Given the description of an element on the screen output the (x, y) to click on. 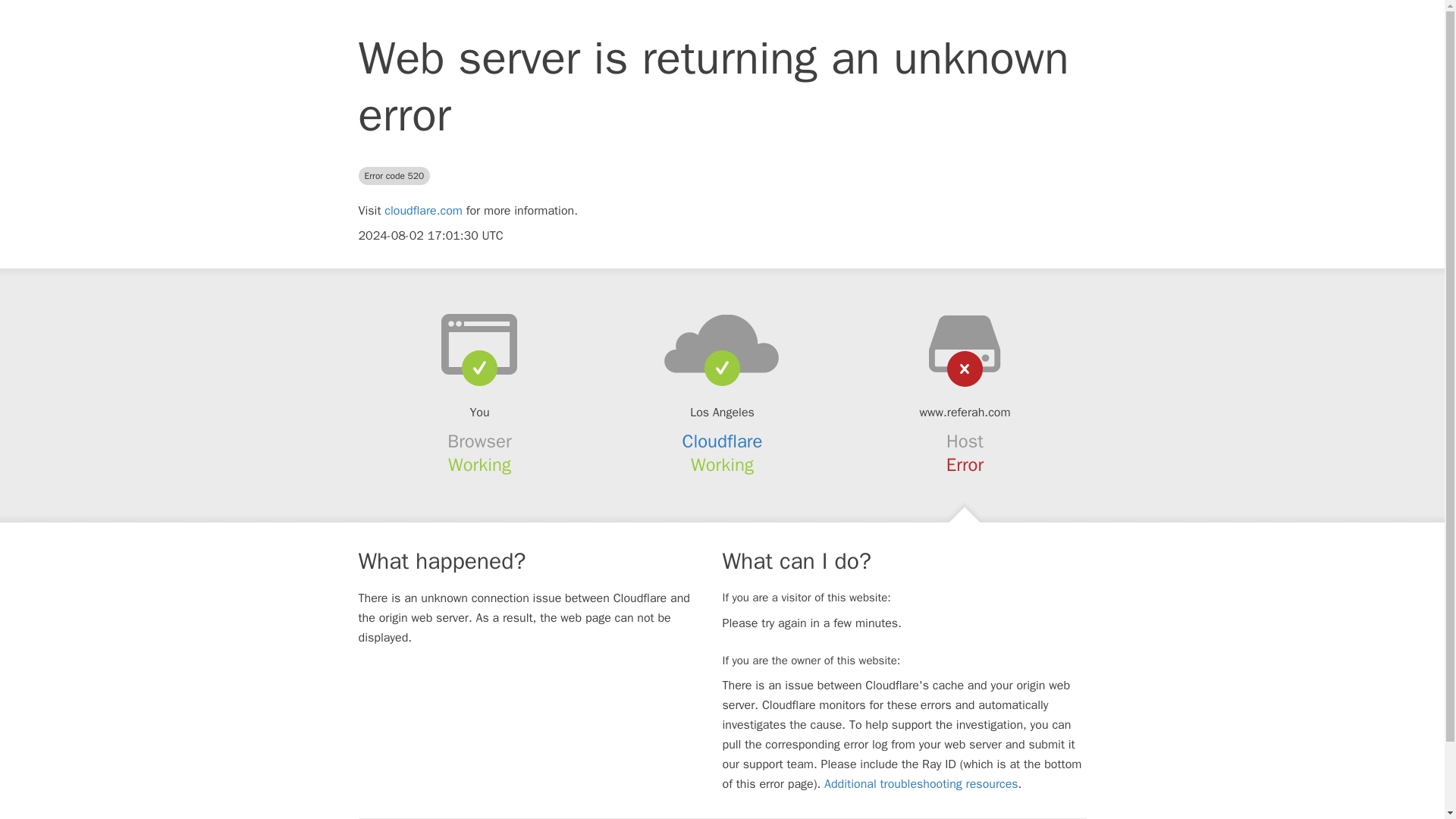
Additional troubleshooting resources (920, 783)
cloudflare.com (423, 210)
Cloudflare (722, 440)
